Given the description of an element on the screen output the (x, y) to click on. 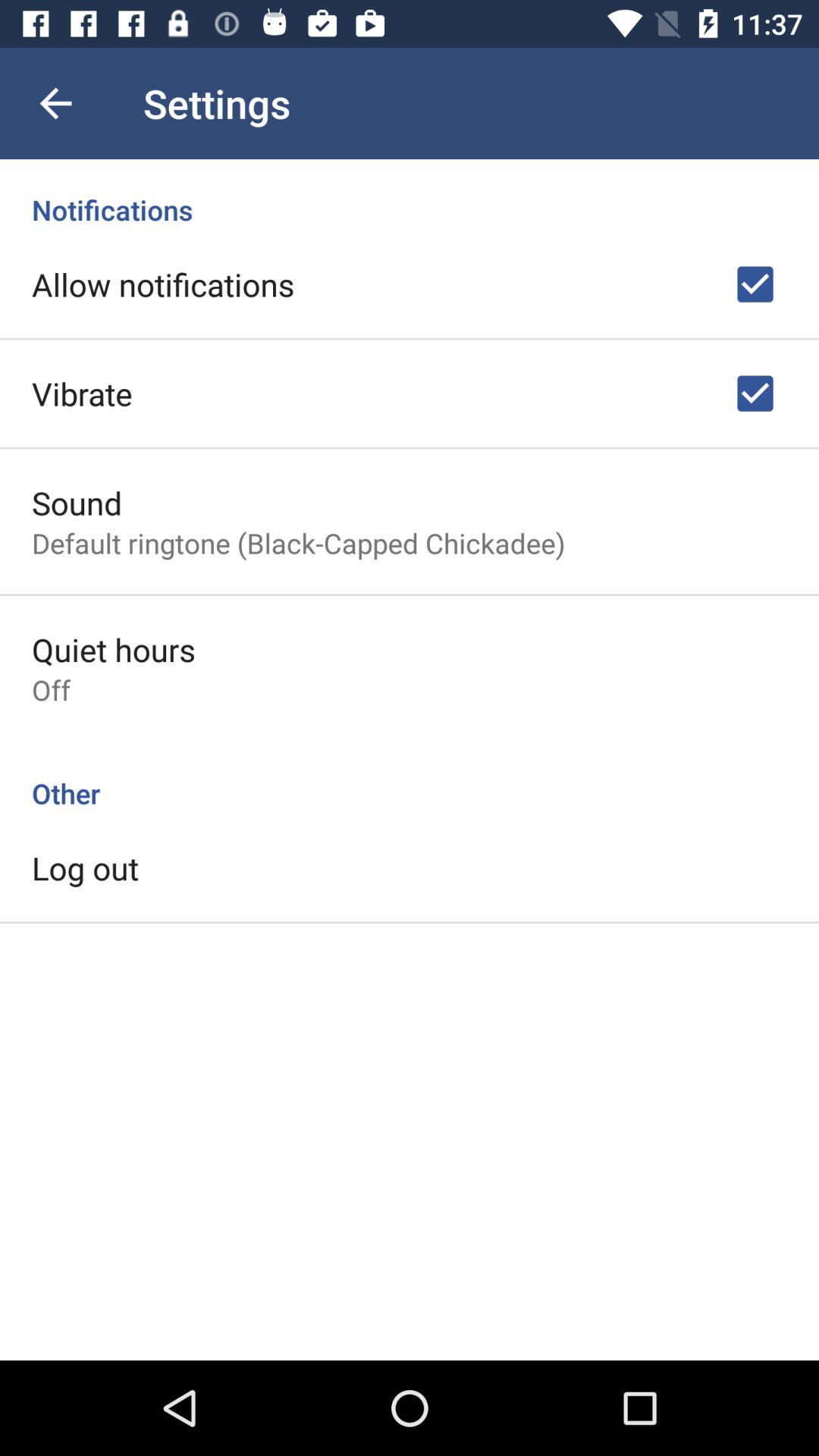
choose the sound icon (76, 502)
